Given the description of an element on the screen output the (x, y) to click on. 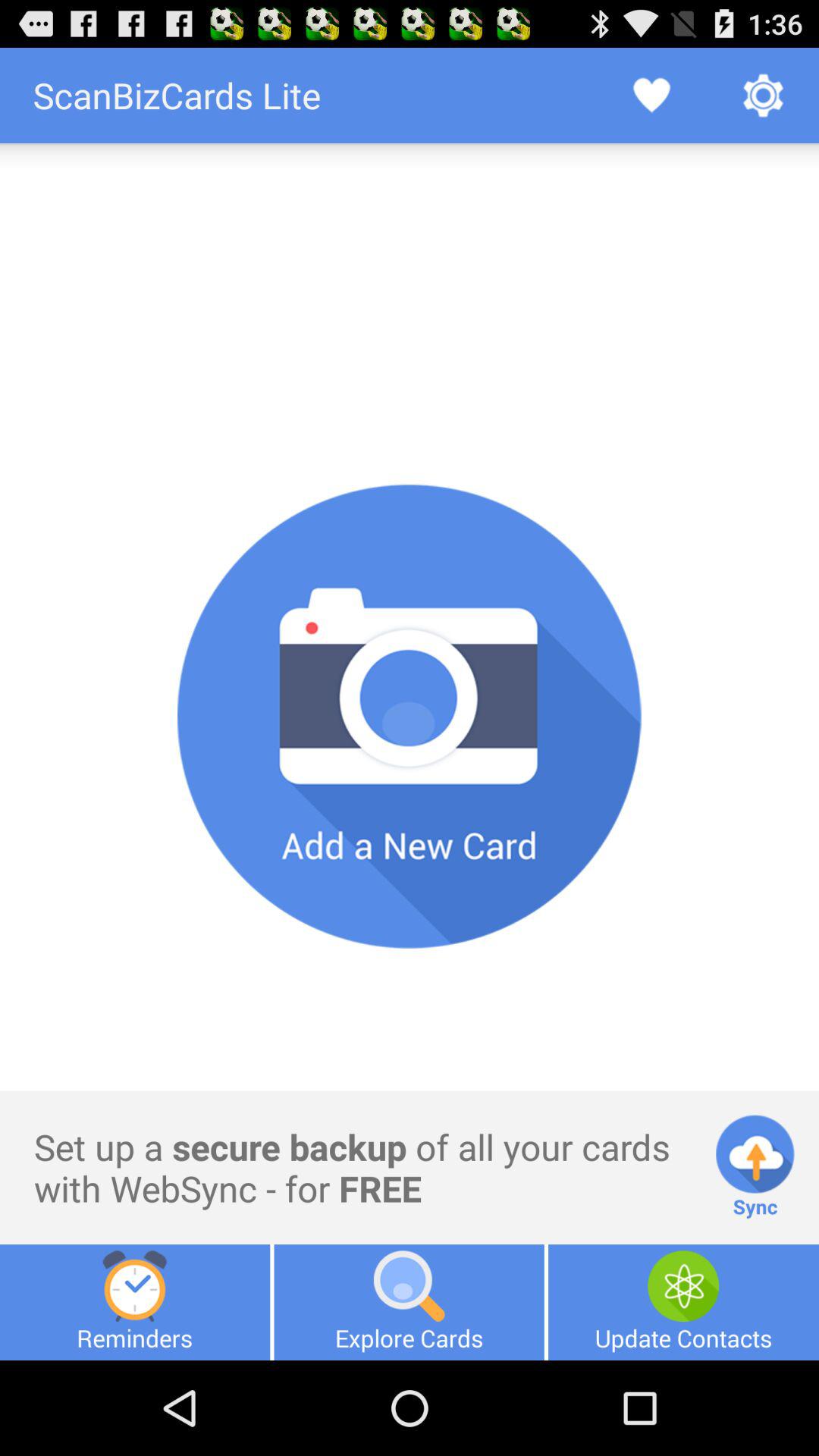
add a new card (409, 716)
